Given the description of an element on the screen output the (x, y) to click on. 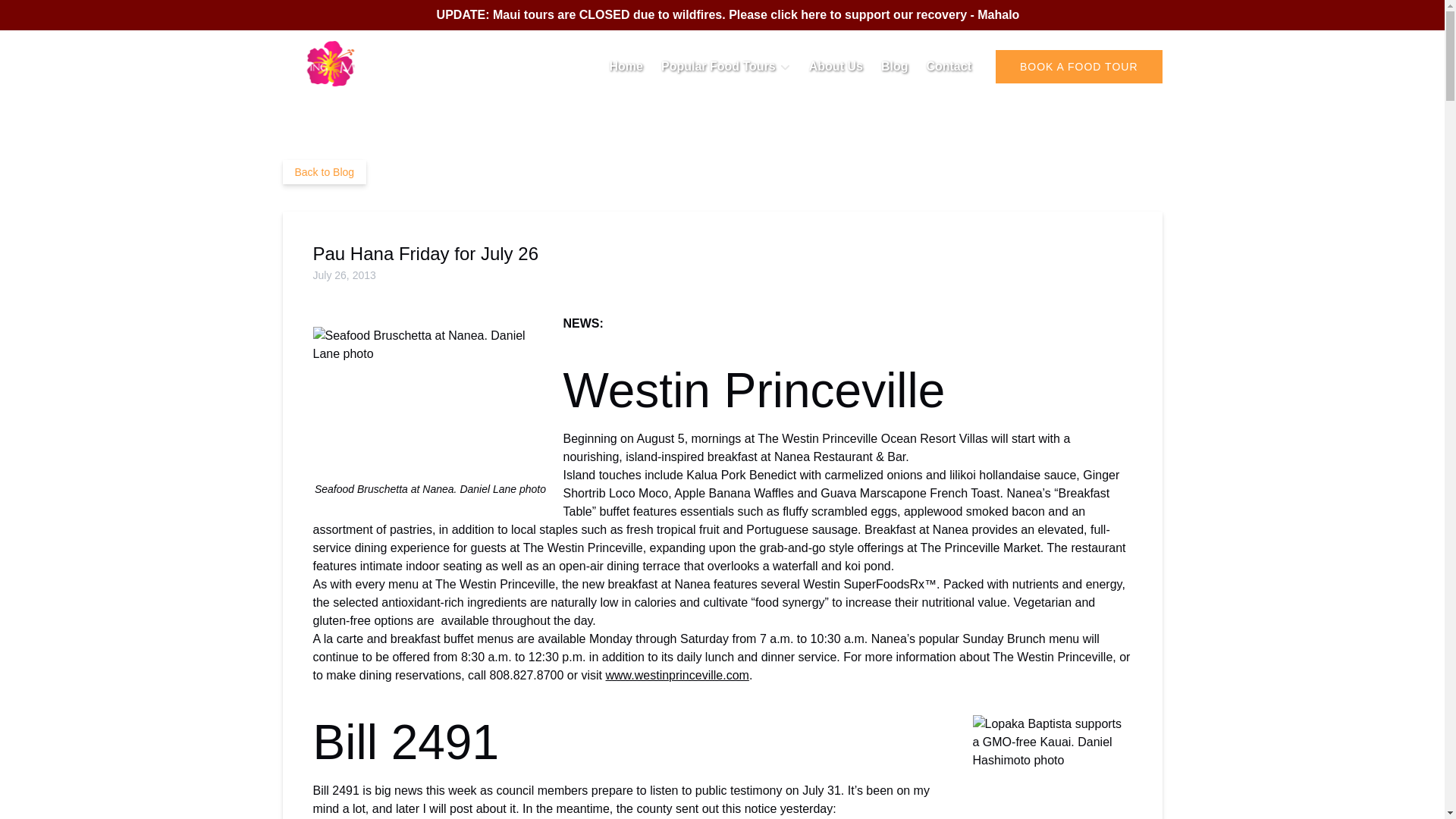
Skip to footer (42, 16)
About Us (835, 66)
Skip to primary navigation (77, 16)
Skip to content (47, 16)
Blog (894, 66)
Home (625, 66)
Open Popular Food Tours Menu (729, 62)
Contact (948, 66)
Popular Food Tours (725, 66)
Back to Blog (324, 171)
